Given the description of an element on the screen output the (x, y) to click on. 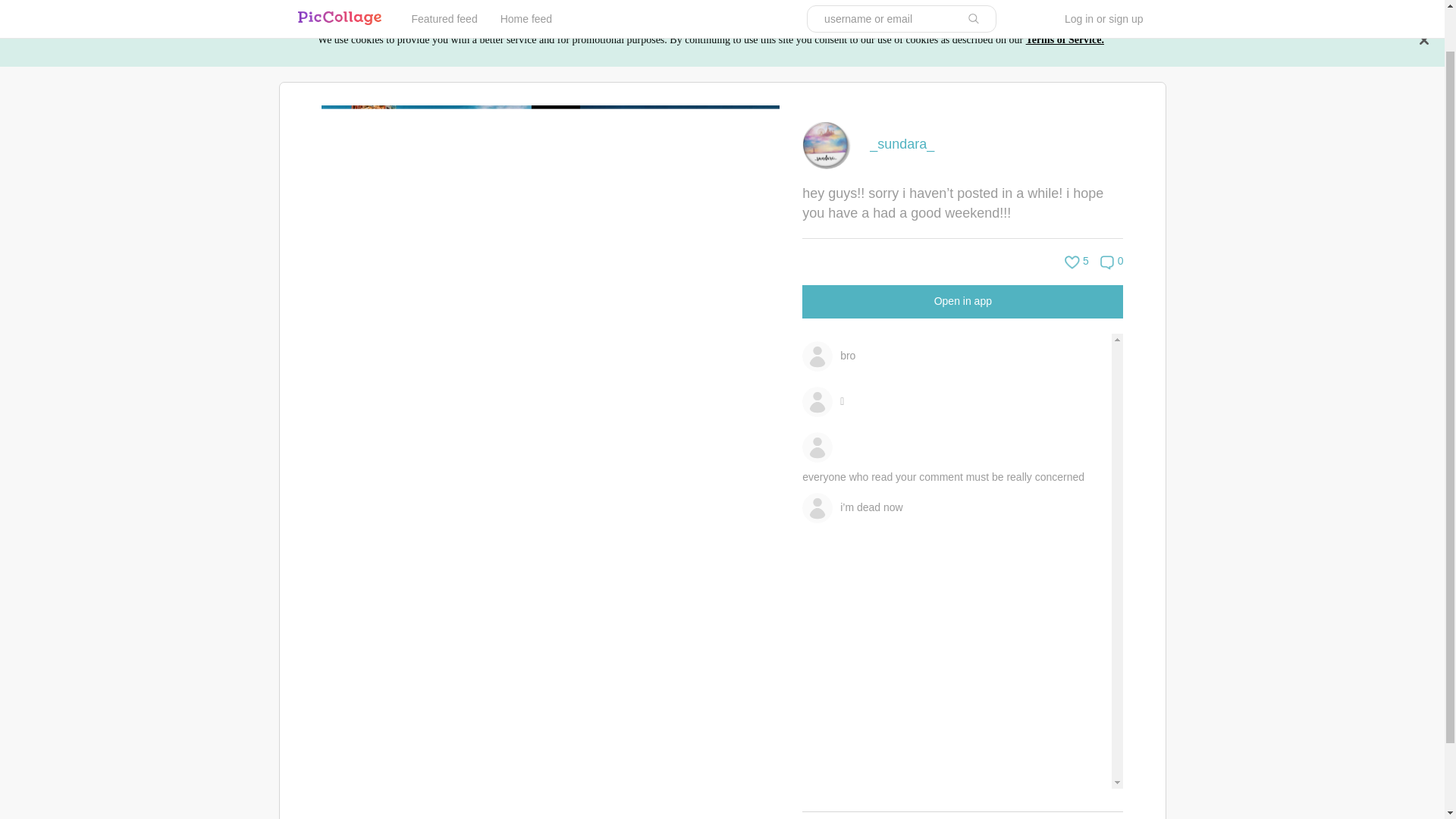
Open in app (962, 300)
Terms of Service. (1064, 39)
